Given the description of an element on the screen output the (x, y) to click on. 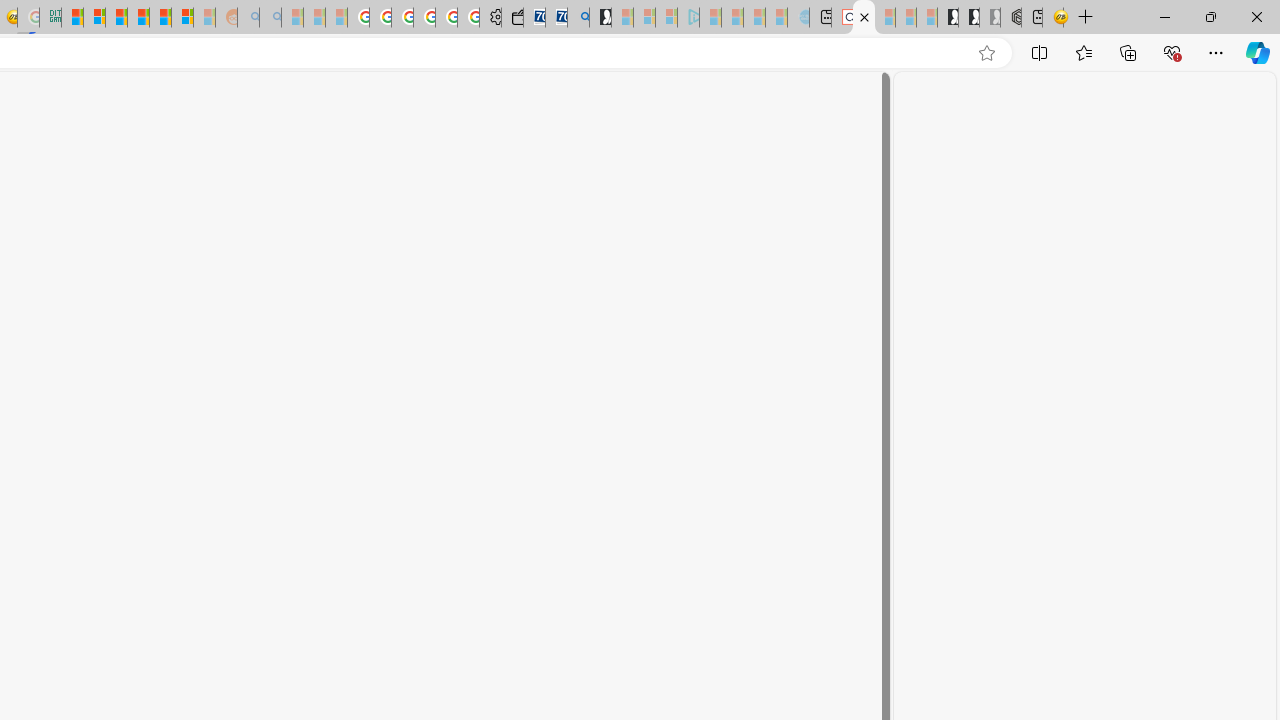
Kinda Frugal - MSN (160, 17)
